Given the description of an element on the screen output the (x, y) to click on. 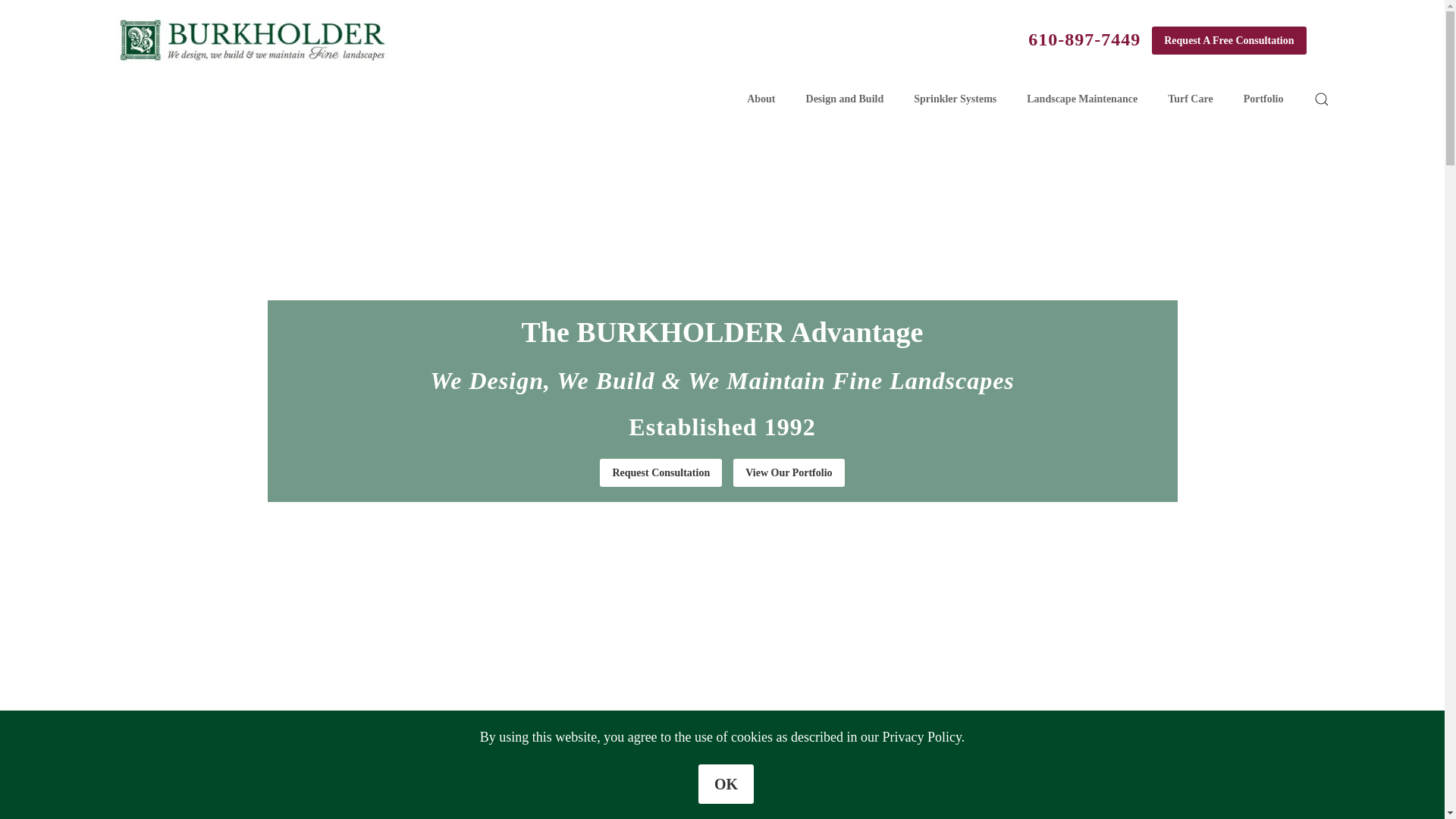
Landscape Maintenance (427, 811)
Plant Health Care (1017, 811)
Award-Winning Design and Build (132, 811)
Sprinkler Systems (721, 811)
